Given the description of an element on the screen output the (x, y) to click on. 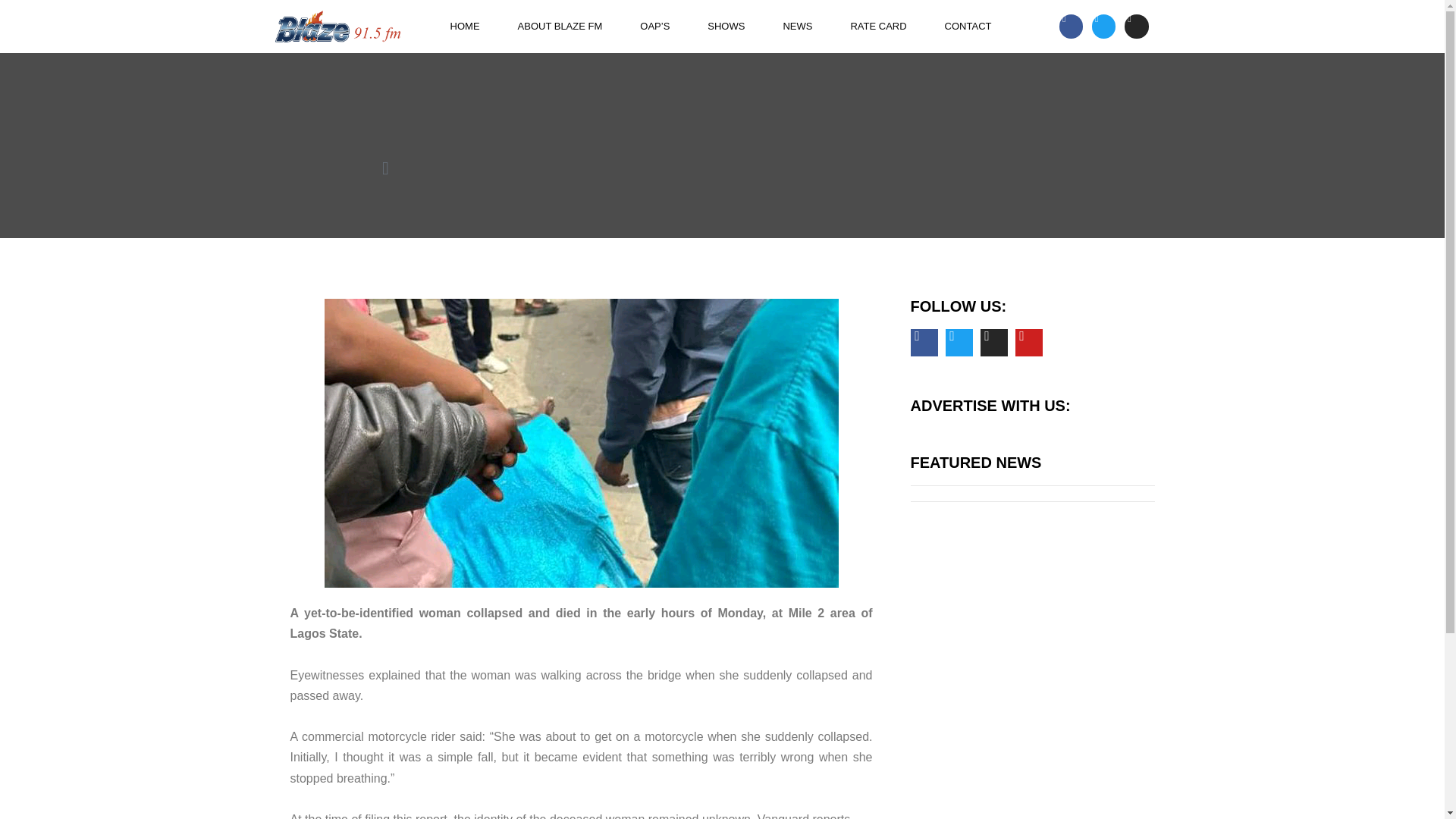
HOME (464, 26)
RATE CARD (877, 26)
SHOWS (725, 26)
NEWS (796, 26)
ABOUT BLAZE FM (560, 26)
CONTACT (968, 26)
